Given the description of an element on the screen output the (x, y) to click on. 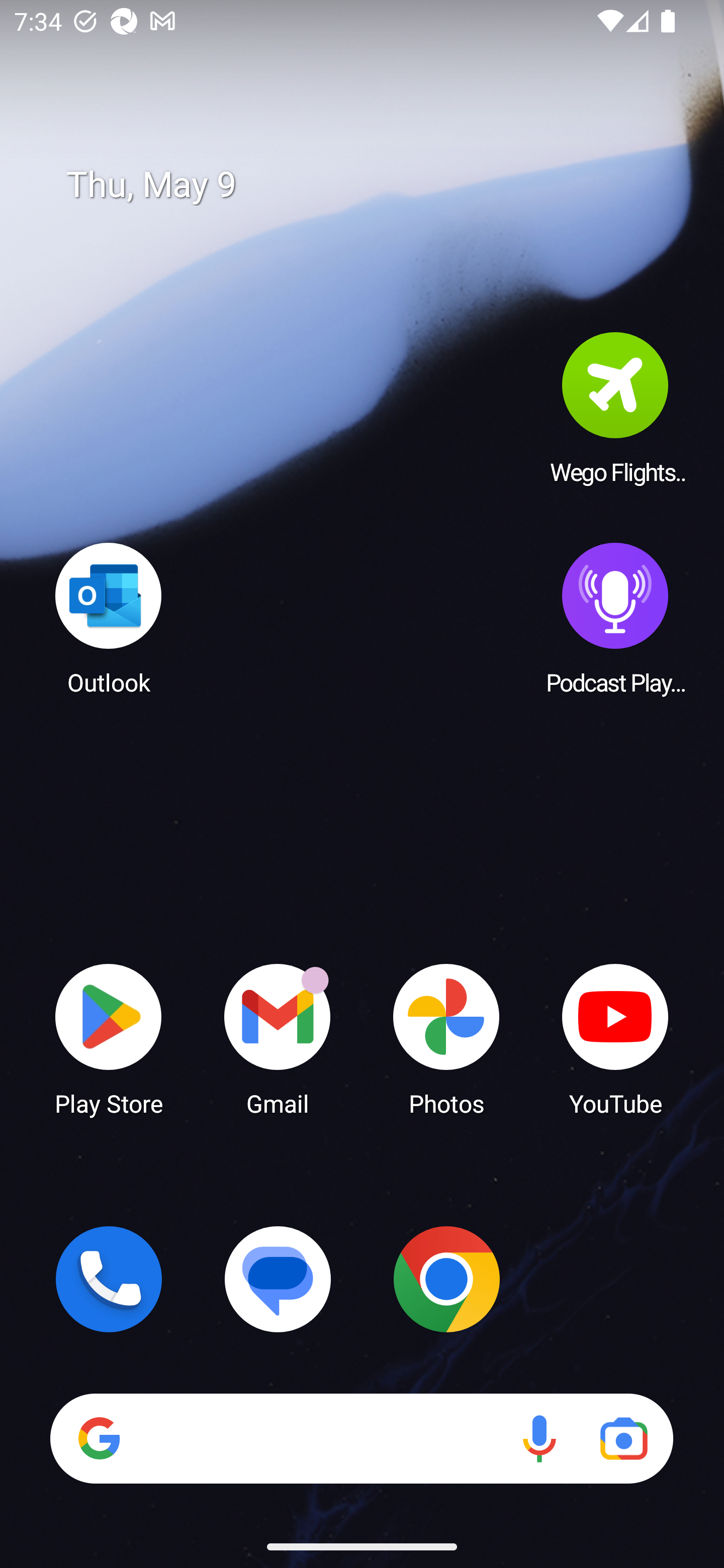
Thu, May 9 (375, 184)
Wego Flights & Hotels (615, 407)
Outlook (108, 617)
Podcast Player (615, 617)
Play Store (108, 1038)
Gmail Gmail has 18 notifications (277, 1038)
Photos (445, 1038)
YouTube (615, 1038)
Phone (108, 1279)
Messages (277, 1279)
Chrome (446, 1279)
Search Voice search Google Lens (361, 1438)
Voice search (539, 1438)
Google Lens (623, 1438)
